Given the description of an element on the screen output the (x, y) to click on. 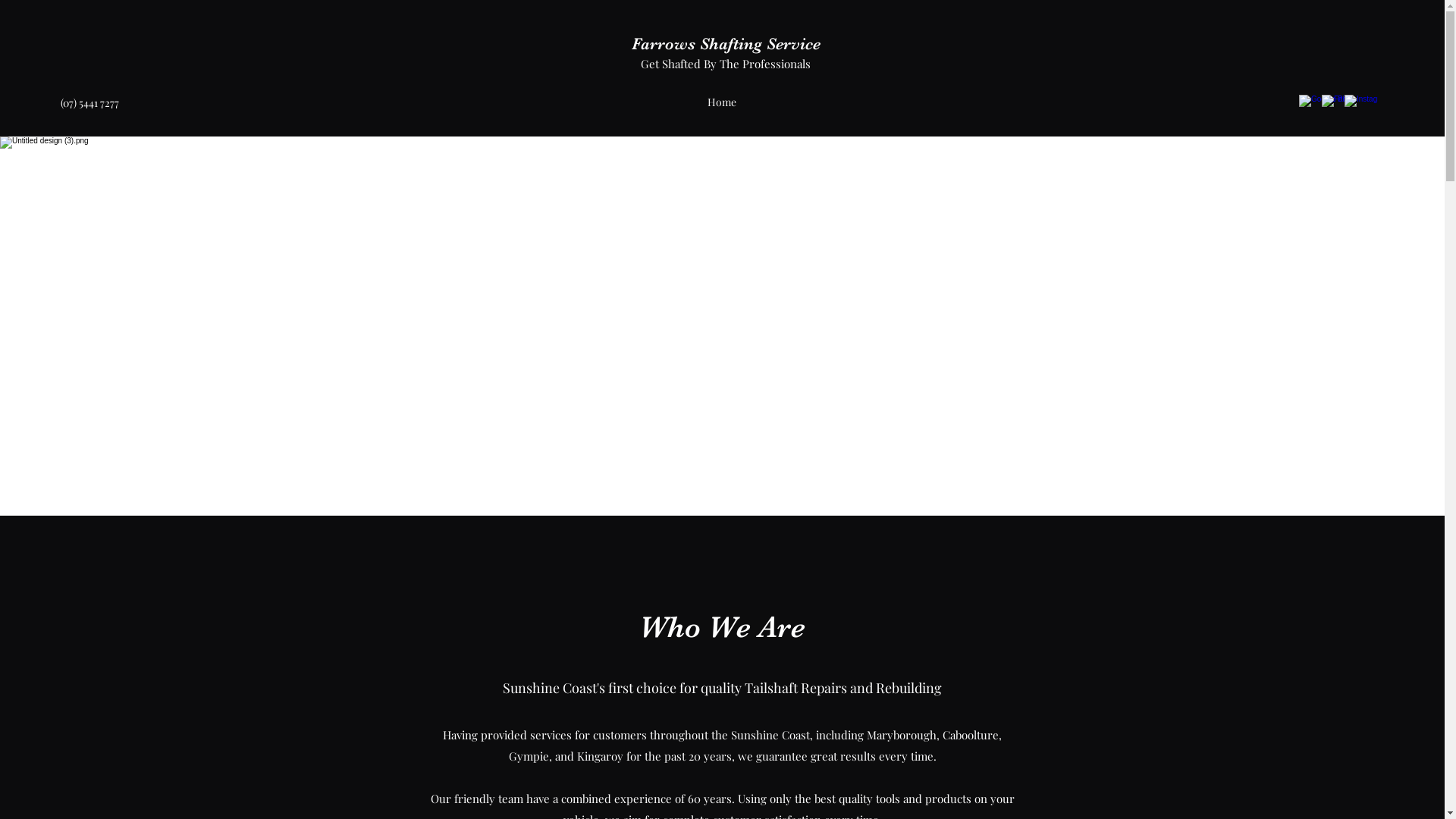
Farrows Shafting Service Element type: text (725, 43)
Home Element type: text (721, 102)
